Given the description of an element on the screen output the (x, y) to click on. 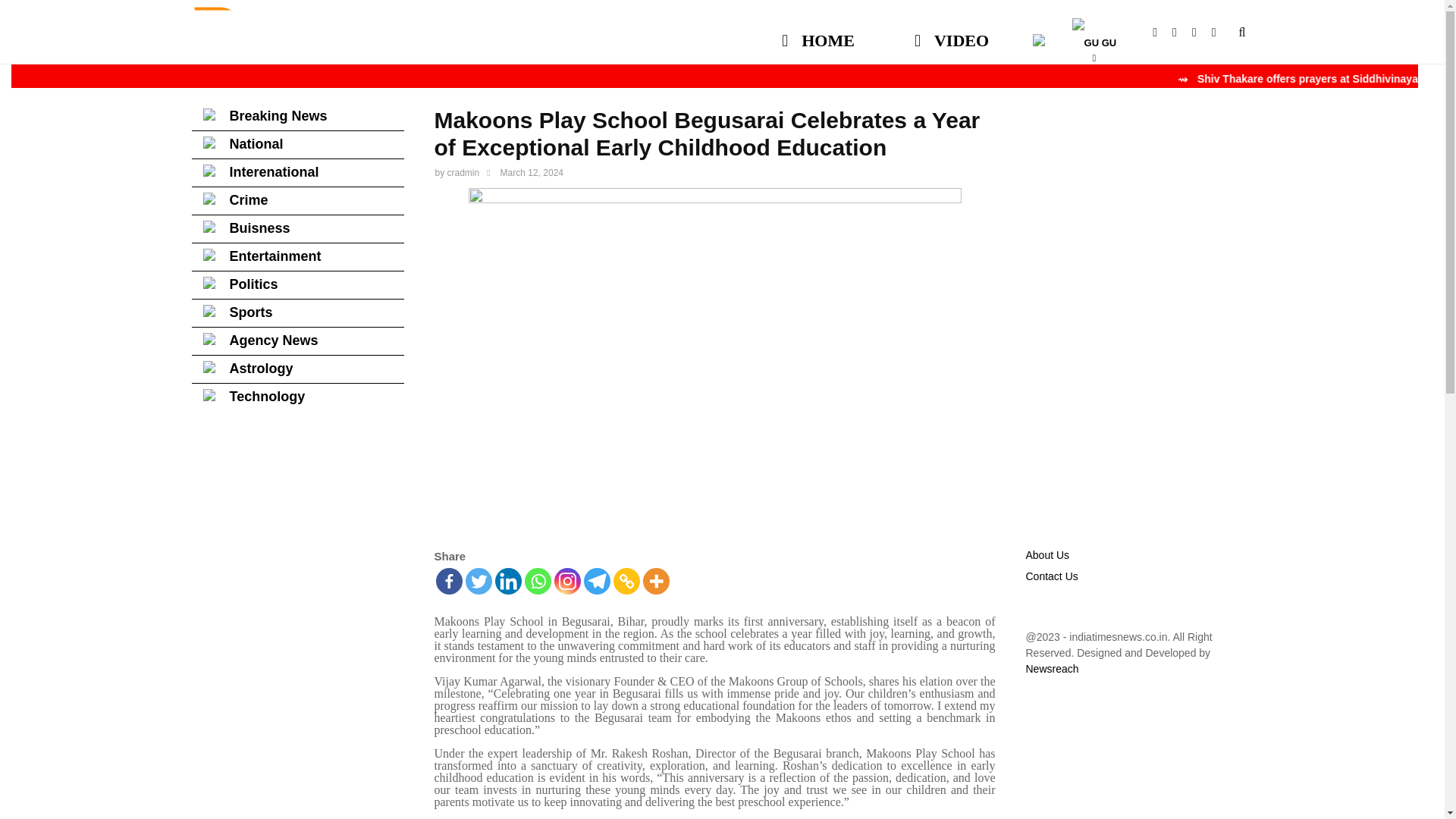
Whatsapp (537, 581)
Copy Link (625, 581)
HOME (818, 33)
Facebook (1162, 31)
Telegram (596, 581)
Whatsapp (1221, 31)
Twitter (478, 581)
Email (1201, 31)
Linkedin (508, 581)
Instagram (566, 581)
GU (1094, 33)
More (656, 581)
Youtube (1182, 31)
VIDEO (950, 33)
Facebook (448, 581)
